Given the description of an element on the screen output the (x, y) to click on. 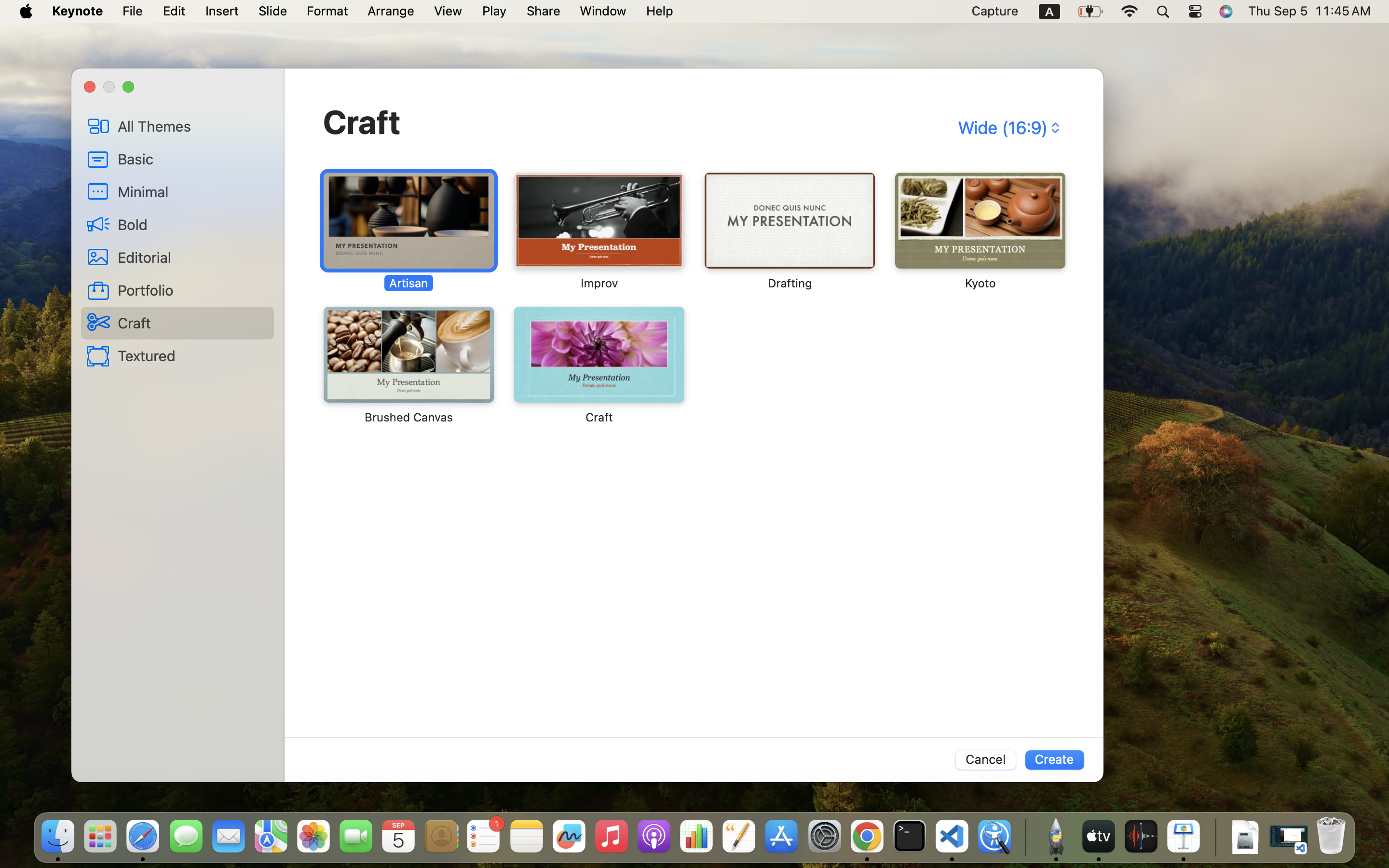
Textured Element type: AXStaticText (191, 355)
Editorial Element type: AXStaticText (191, 256)
Basic Element type: AXStaticText (191, 158)
‎⁨Craft⁩ Element type: AXButton (598, 365)
